Given the description of an element on the screen output the (x, y) to click on. 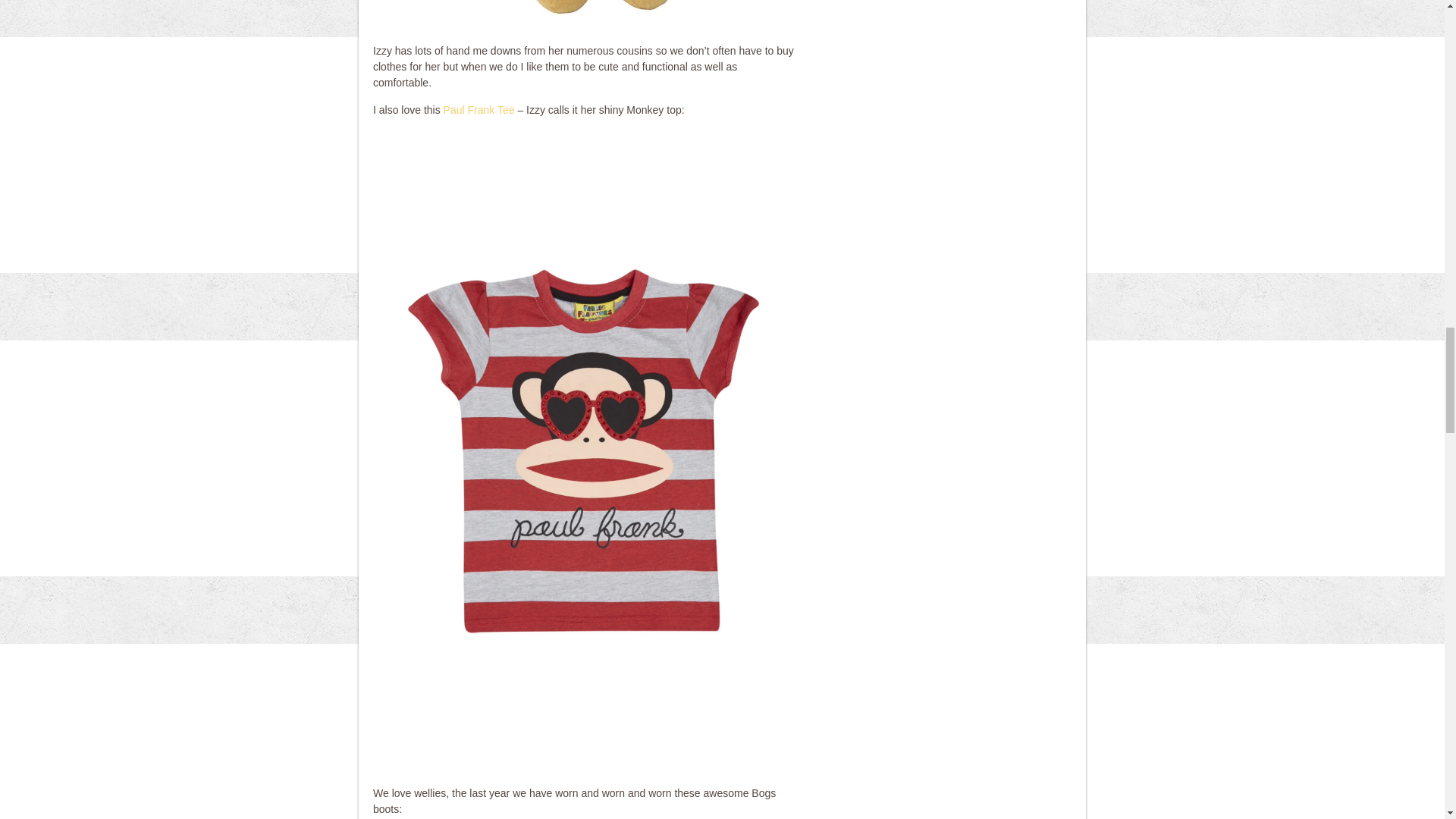
Paul Frank Tee (479, 110)
